Given the description of an element on the screen output the (x, y) to click on. 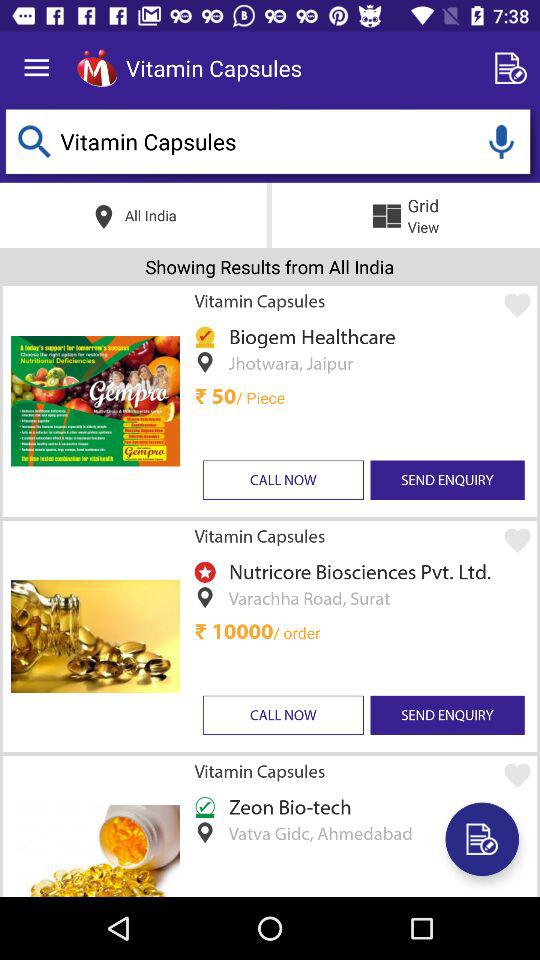
save (482, 839)
